Given the description of an element on the screen output the (x, y) to click on. 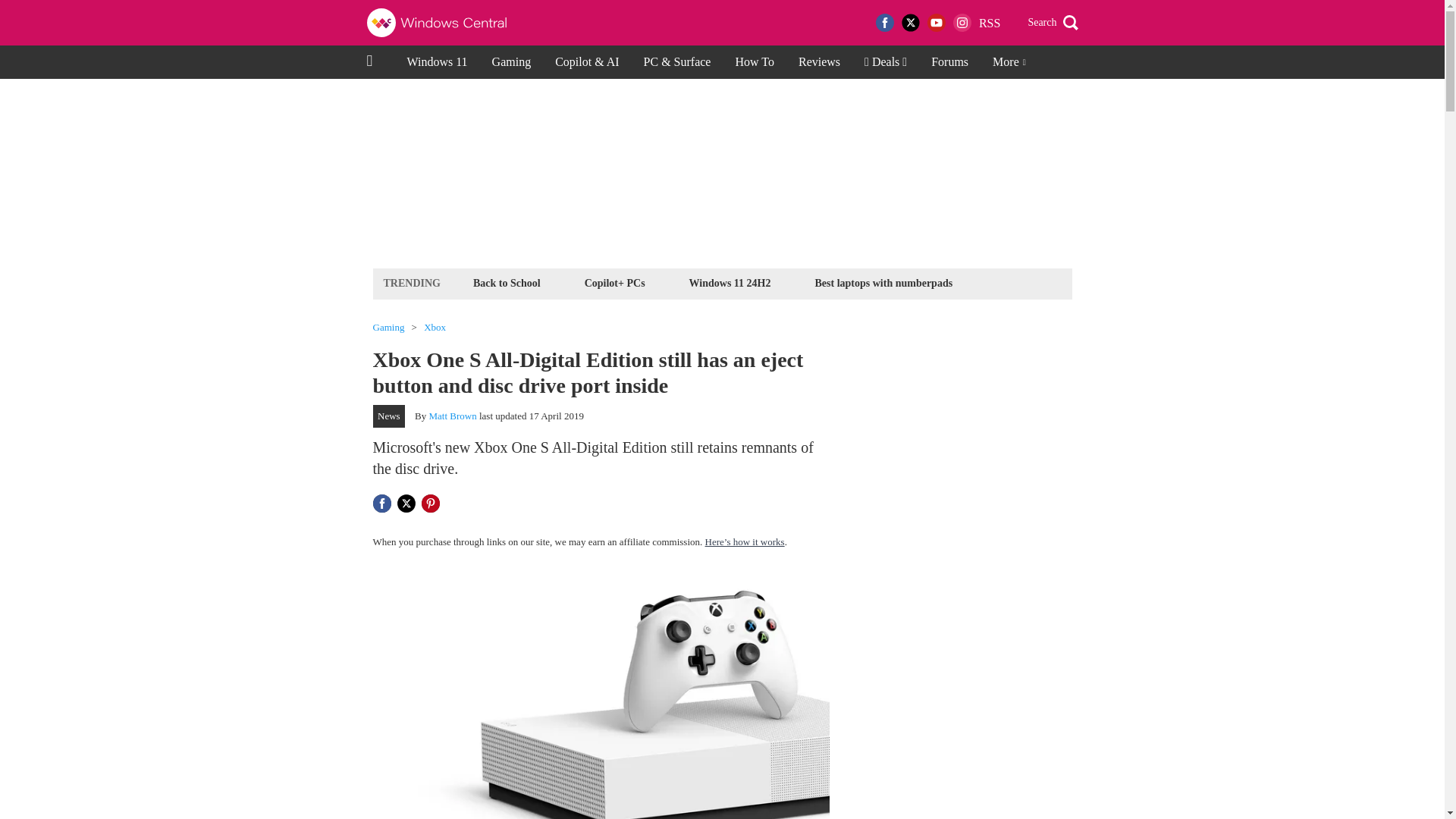
Best laptops with numberpads (883, 282)
RSS (989, 22)
Matt Brown (453, 415)
Windows 11 24H2 (730, 282)
Gaming (511, 61)
News (389, 415)
Gaming (388, 327)
How To (754, 61)
Back to School (506, 282)
Windows 11 (436, 61)
